Given the description of an element on the screen output the (x, y) to click on. 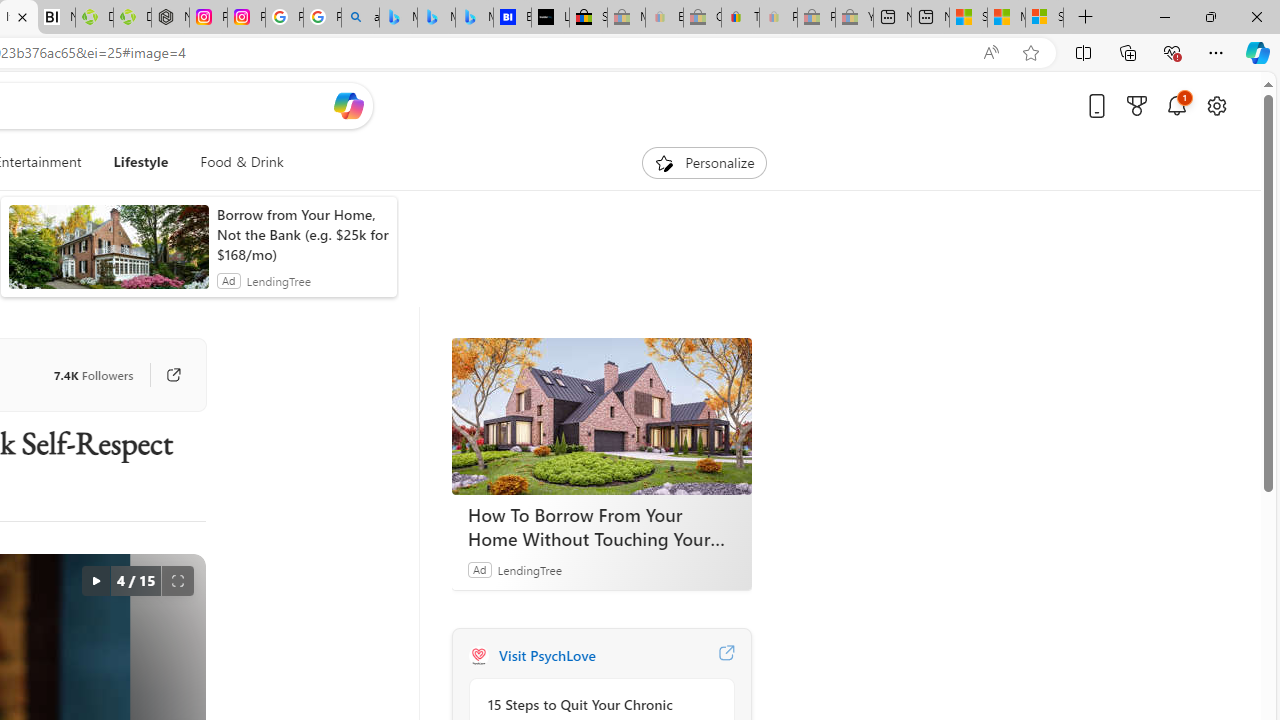
Selling on eBay | Electronics, Fashion, Home & Garden | eBay (587, 17)
Go to publisher's site (173, 374)
Microsoft Bing Travel - Flights from Hong Kong to Bangkok (398, 17)
Shanghai, China hourly forecast | Microsoft Weather (967, 17)
